Given the description of an element on the screen output the (x, y) to click on. 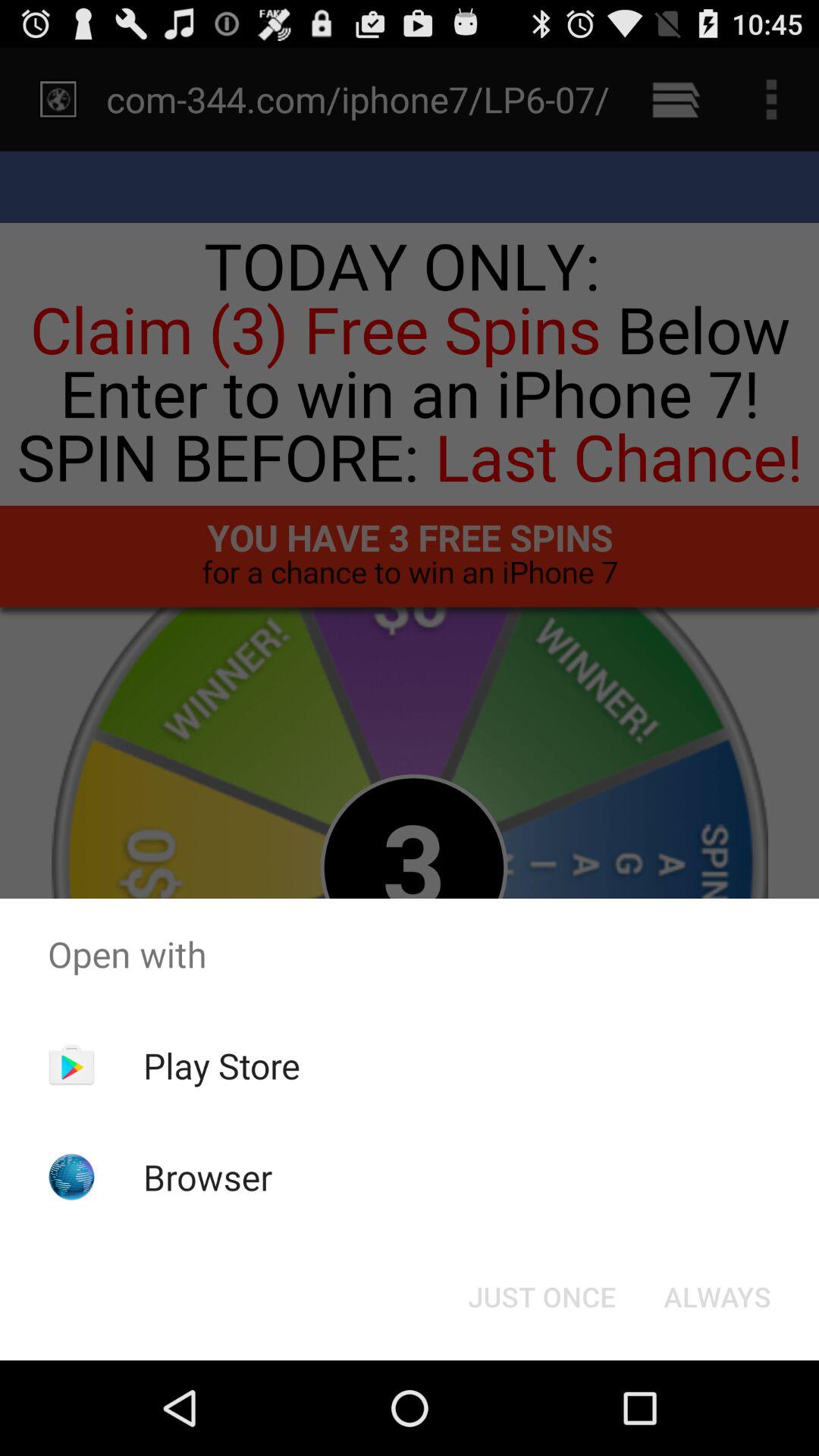
turn off app below play store item (207, 1176)
